Given the description of an element on the screen output the (x, y) to click on. 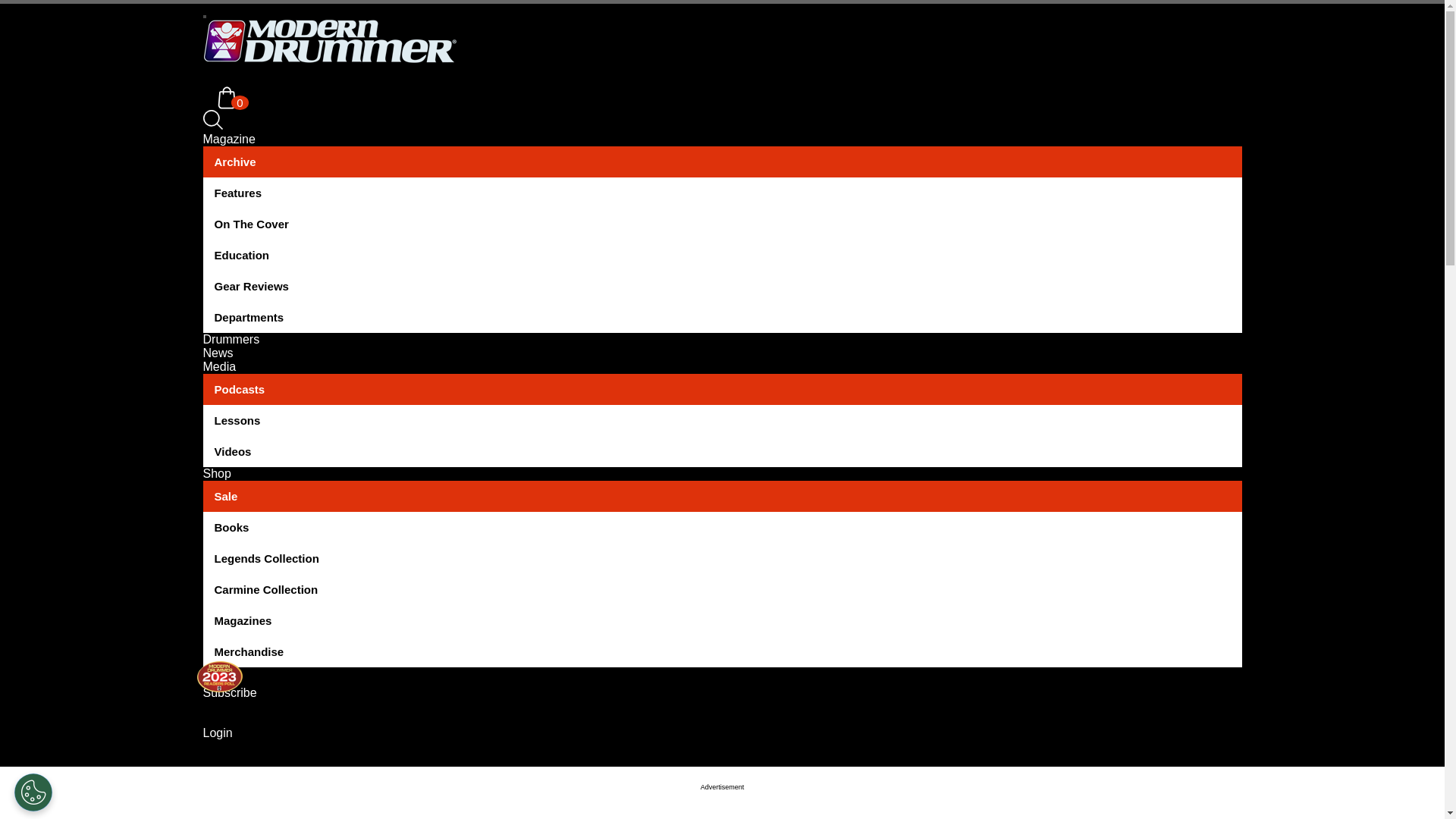
Departments (722, 317)
Sale (722, 495)
On The Cover (722, 223)
Merchandise (722, 651)
Archive (722, 161)
Books (722, 526)
Carmine Collection (722, 589)
Archive (722, 161)
Lessons (722, 419)
Magazines (722, 620)
Departments (722, 317)
Education (722, 255)
Education (722, 255)
Books (722, 526)
Gear Reviews (722, 286)
